Given the description of an element on the screen output the (x, y) to click on. 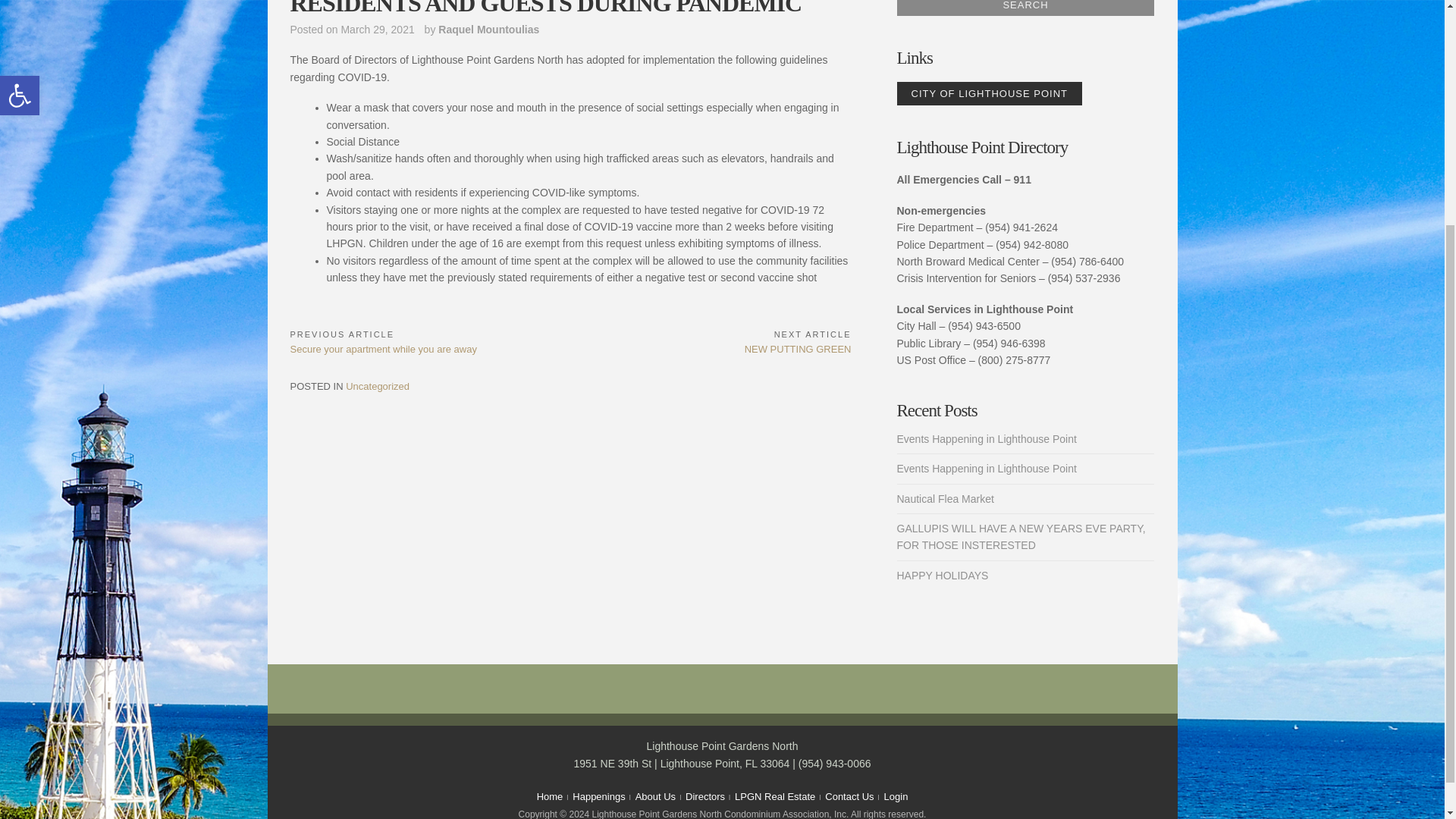
Events Happening in Lighthouse Point (985, 468)
Nautical Flea Market (944, 499)
Search (1025, 7)
Events Happening in Lighthouse Point (985, 439)
Search (1025, 7)
Raquel Mountoulias (488, 29)
Directors (705, 796)
Search (1025, 7)
LPGN Real Estate (710, 341)
Uncategorized (775, 796)
Home (377, 386)
March 29, 2021 (550, 796)
HAPPY HOLIDAYS (376, 29)
